Given the description of an element on the screen output the (x, y) to click on. 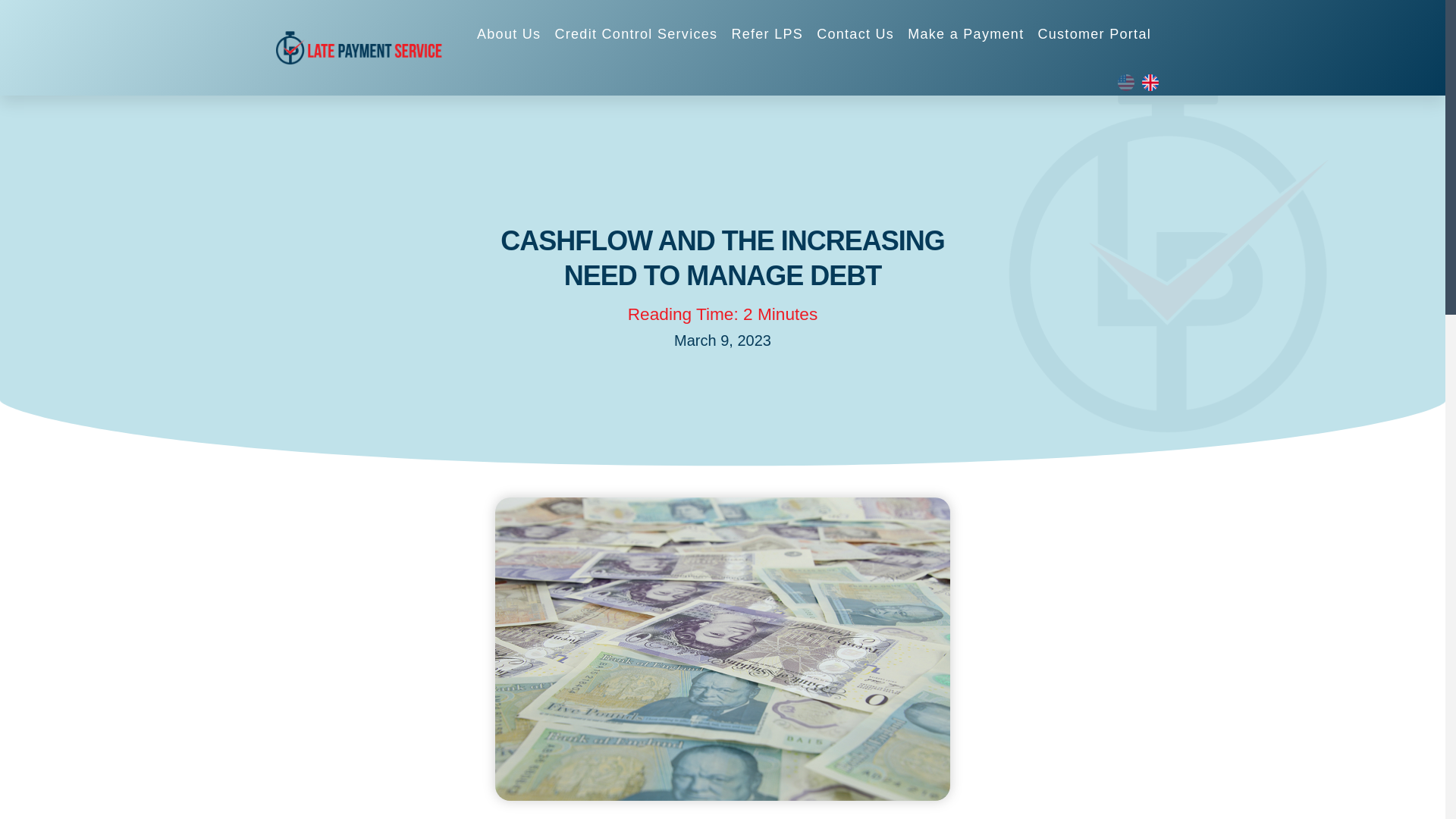
Refer LPS (766, 33)
Credit Control Services (635, 33)
Contact Us (854, 33)
About Us (508, 33)
Customer Portal (1093, 33)
Make a Payment (965, 33)
